Given the description of an element on the screen output the (x, y) to click on. 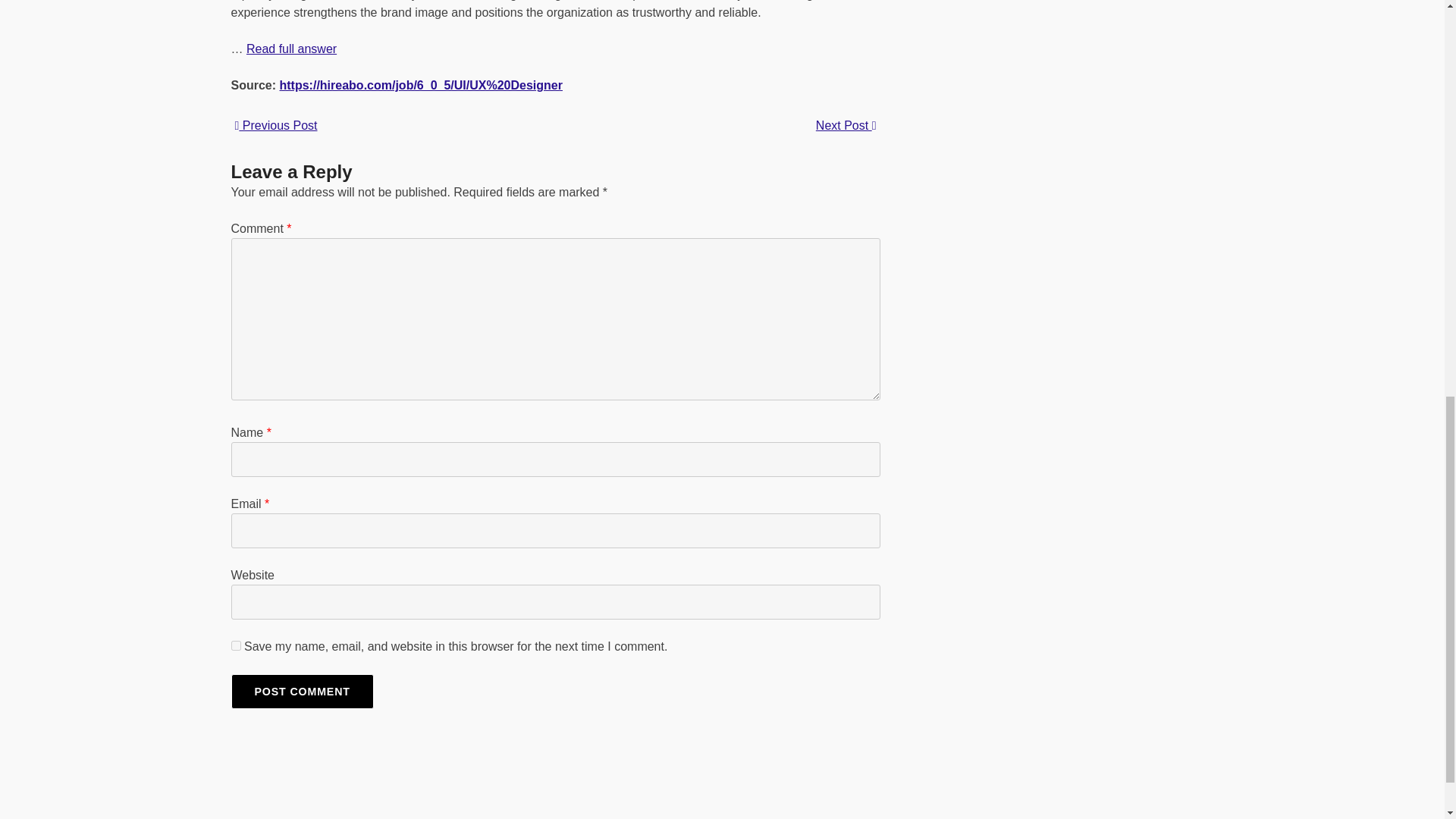
Next Post (845, 126)
Post Comment (301, 691)
yes (235, 645)
Read full answer (291, 48)
Post Comment (301, 691)
Previous Post (275, 124)
